Given the description of an element on the screen output the (x, y) to click on. 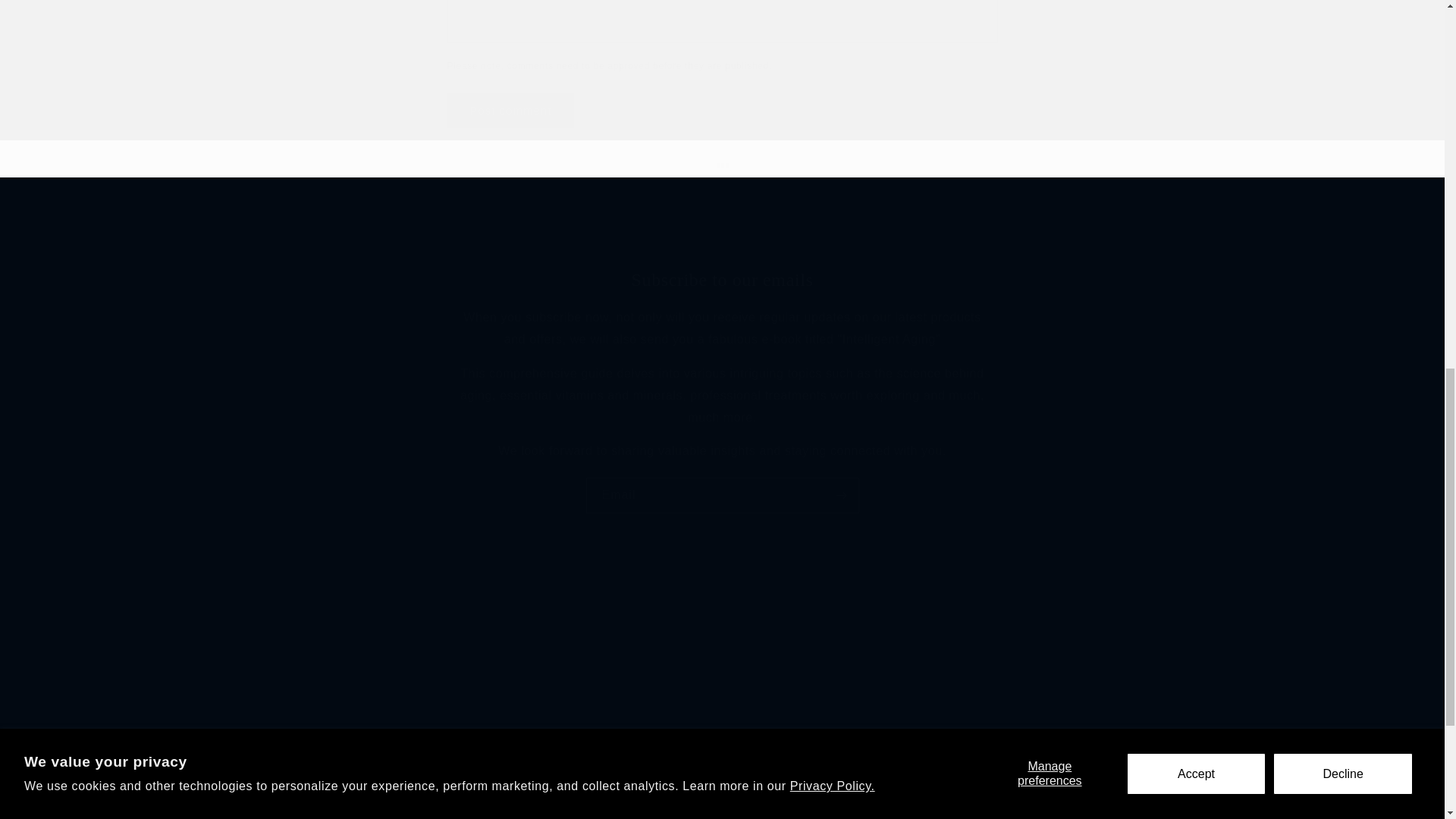
Subscribe to our emails (721, 279)
Email (722, 495)
Post comment (721, 801)
